Given the description of an element on the screen output the (x, y) to click on. 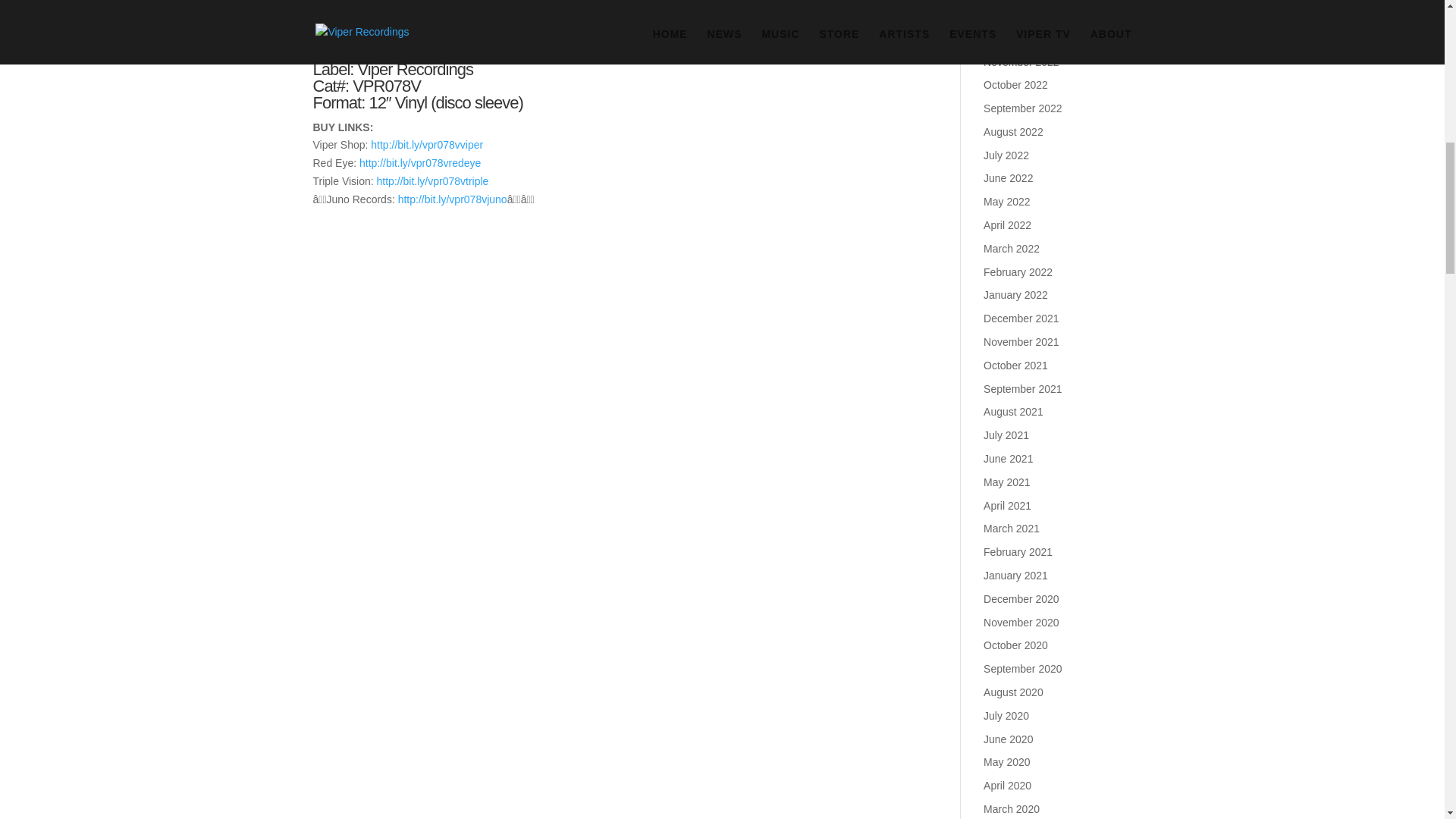
December 2022 (1021, 38)
January 2023 (1016, 15)
